Given the description of an element on the screen output the (x, y) to click on. 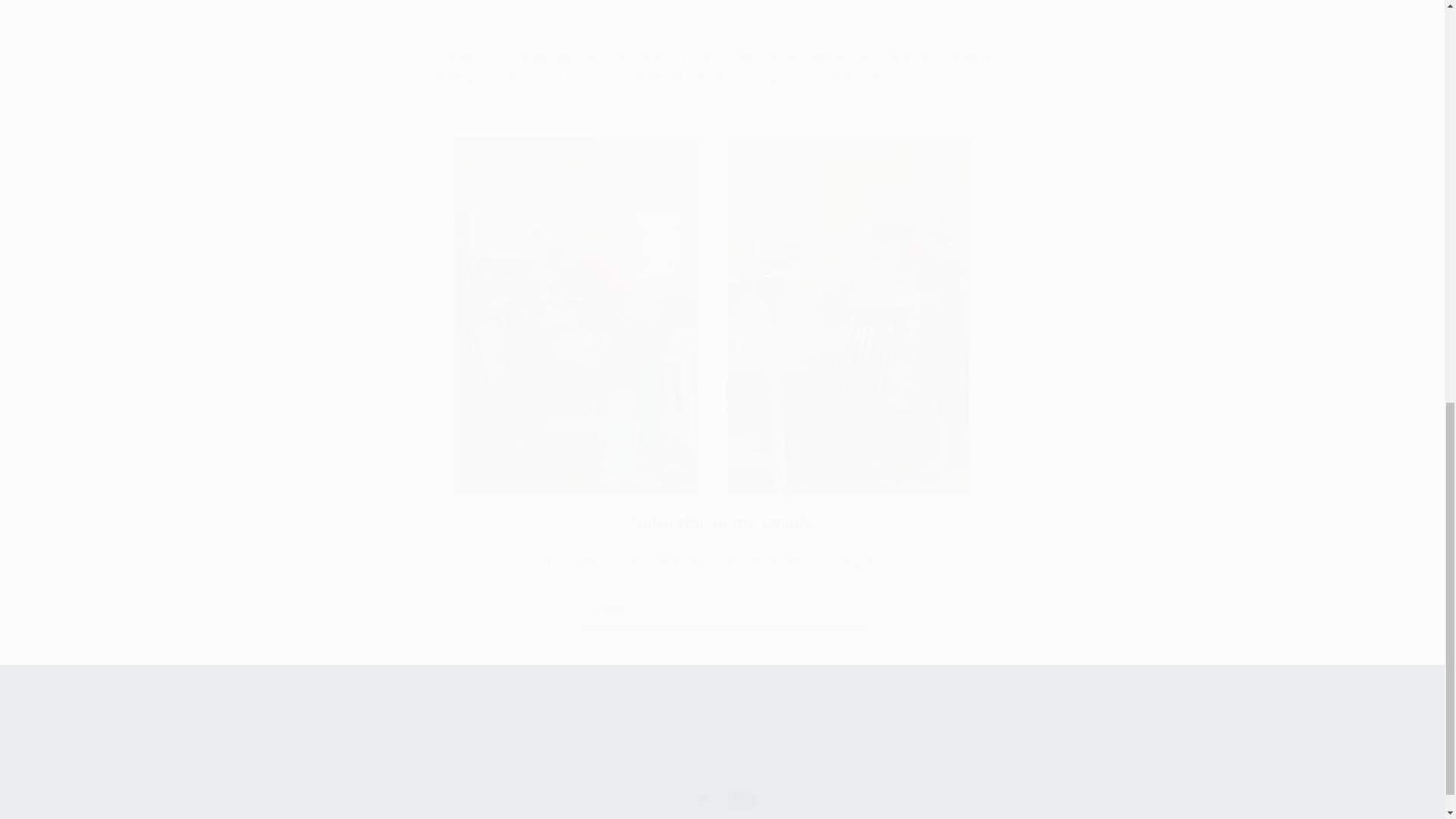
Email (722, 607)
Subscribe to my emails (722, 522)
